Given the description of an element on the screen output the (x, y) to click on. 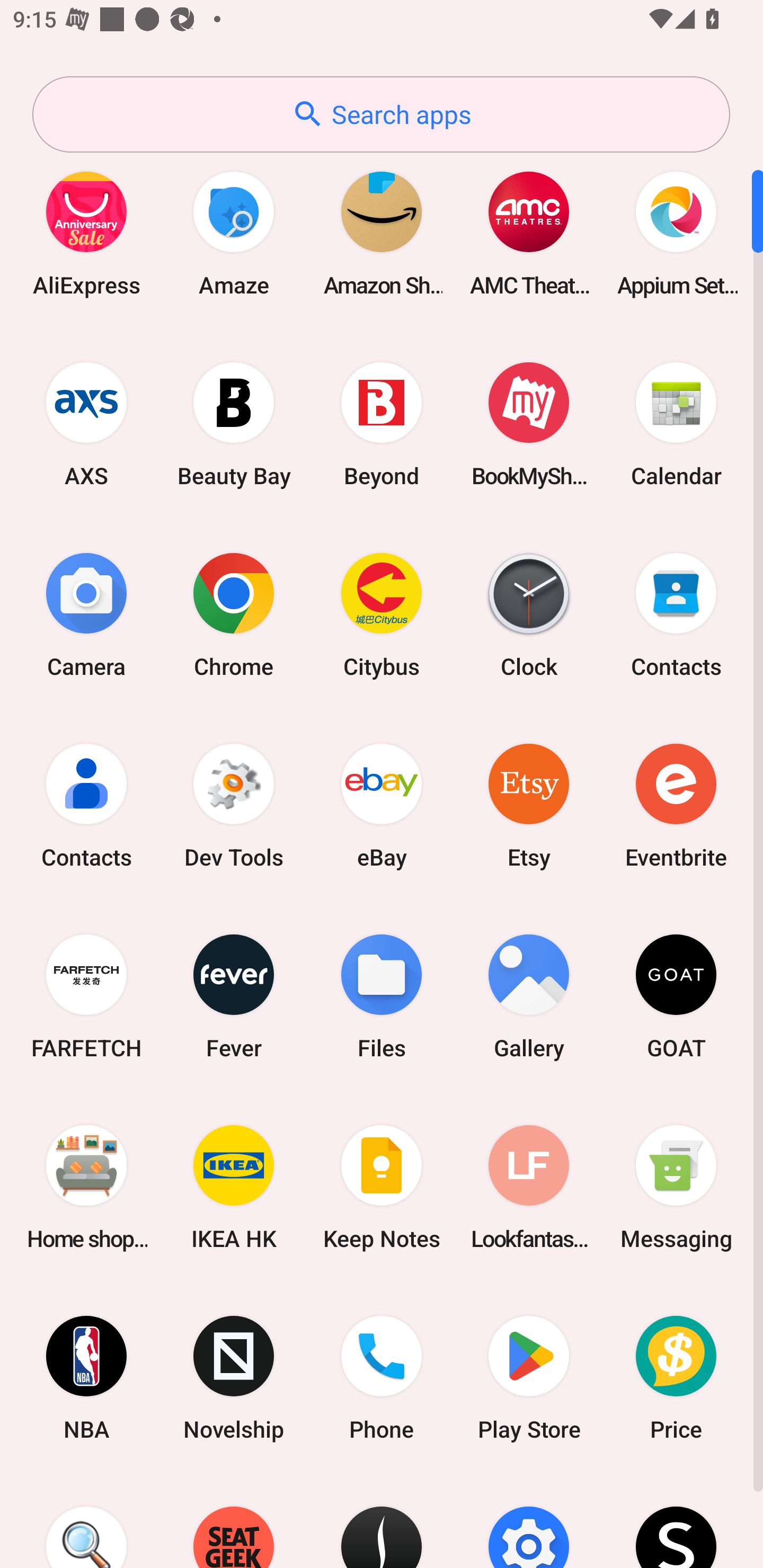
  Search apps (381, 114)
AliExpress (86, 233)
Amaze (233, 233)
Amazon Shopping (381, 233)
AMC Theatres (528, 233)
Appium Settings (676, 233)
AXS (86, 424)
Beauty Bay (233, 424)
Beyond (381, 424)
BookMyShow (528, 424)
Calendar (676, 424)
Camera (86, 614)
Chrome (233, 614)
Citybus (381, 614)
Clock (528, 614)
Contacts (676, 614)
Contacts (86, 805)
Dev Tools (233, 805)
eBay (381, 805)
Etsy (528, 805)
Eventbrite (676, 805)
FARFETCH (86, 996)
Fever (233, 996)
Files (381, 996)
Gallery (528, 996)
GOAT (676, 996)
Home shopping (86, 1186)
IKEA HK (233, 1186)
Keep Notes (381, 1186)
Lookfantastic (528, 1186)
Messaging (676, 1186)
NBA (86, 1377)
Novelship (233, 1377)
Phone (381, 1377)
Play Store (528, 1377)
Price (676, 1377)
